Given the description of an element on the screen output the (x, y) to click on. 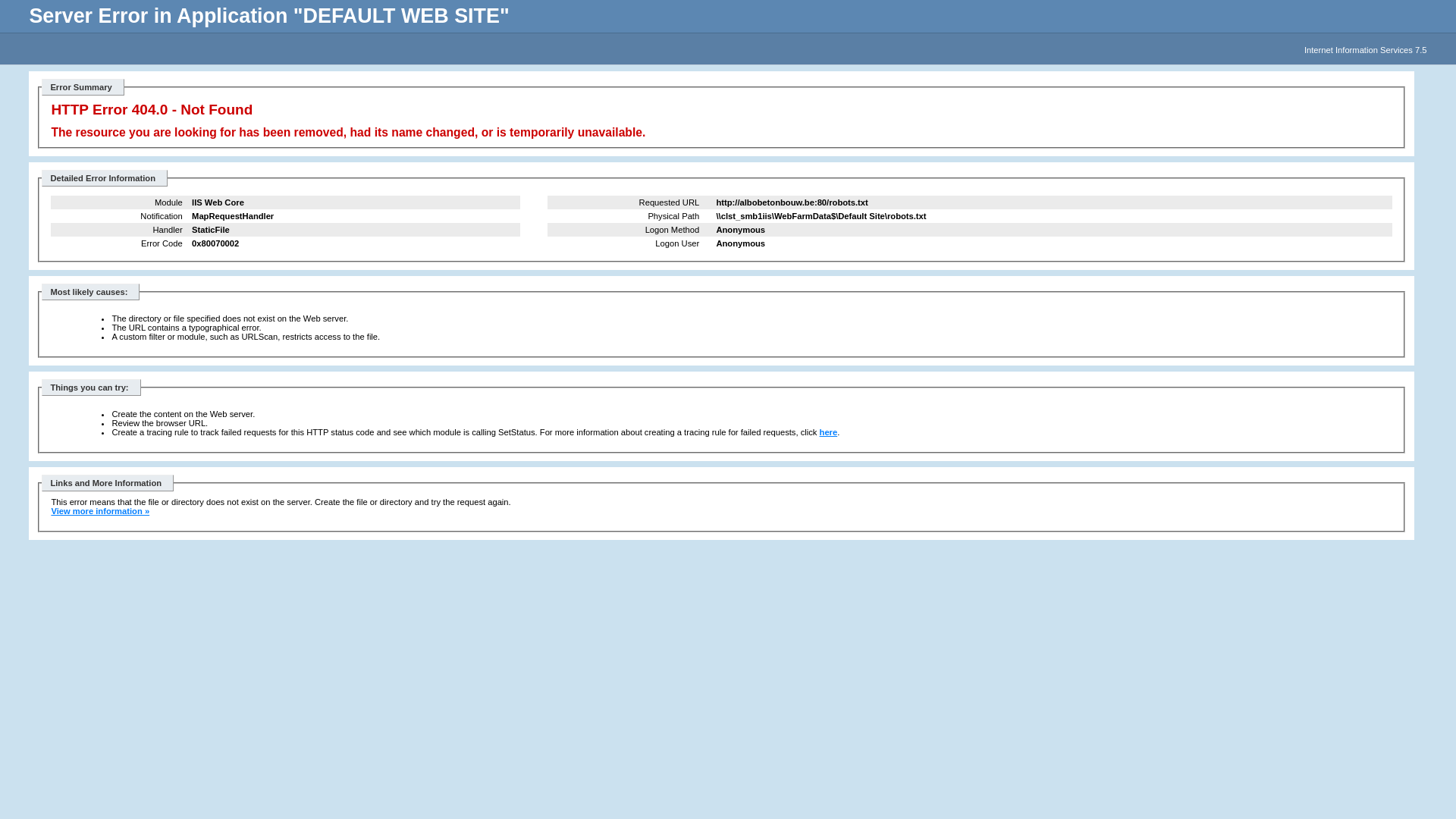
here Element type: text (828, 431)
